Given the description of an element on the screen output the (x, y) to click on. 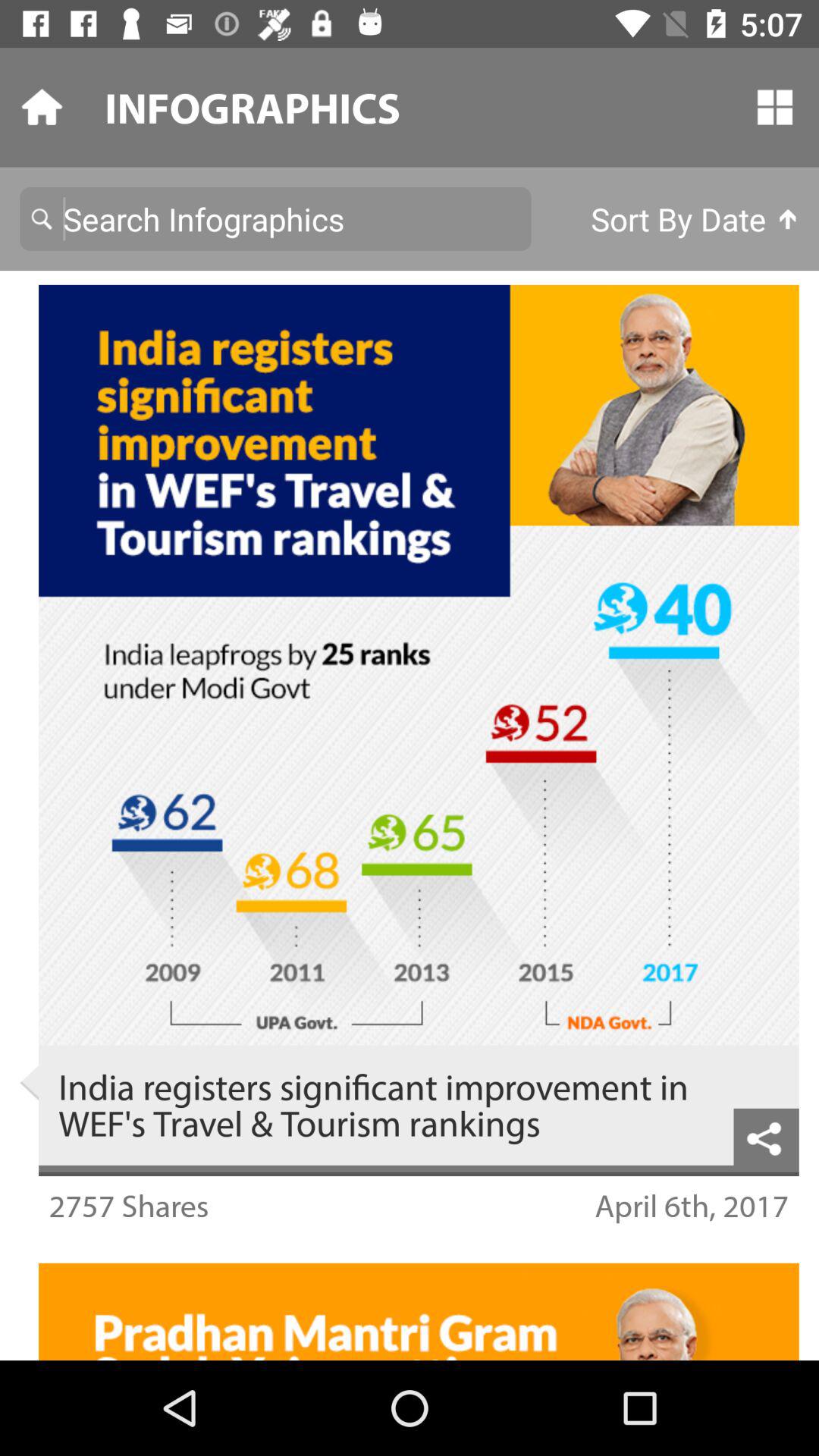
flip to the india registers significant (385, 1105)
